Given the description of an element on the screen output the (x, y) to click on. 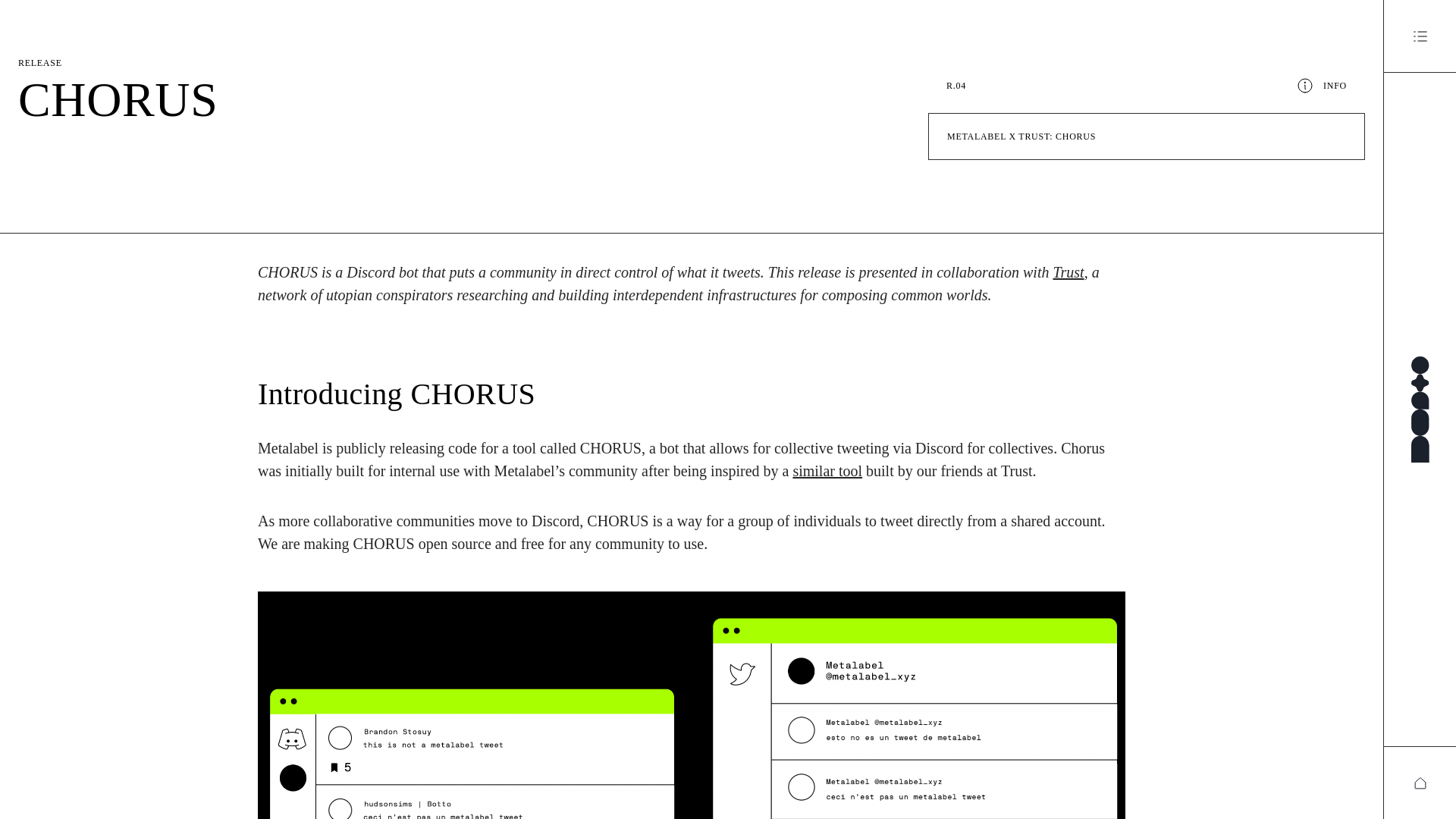
similar tool (826, 470)
Trust (1067, 271)
